Given the description of an element on the screen output the (x, y) to click on. 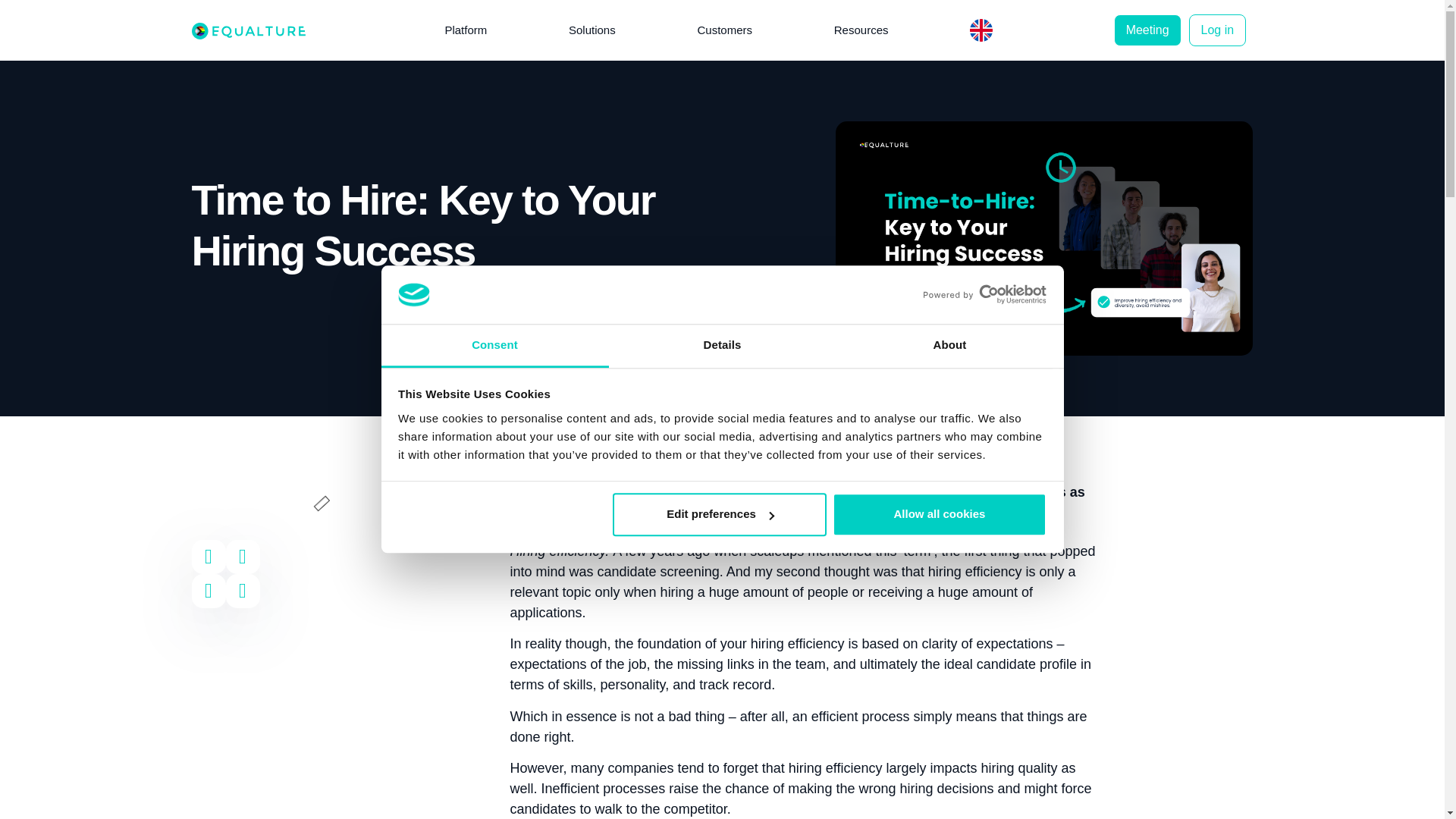
About (948, 345)
Consent (494, 345)
Details (721, 345)
